Given the description of an element on the screen output the (x, y) to click on. 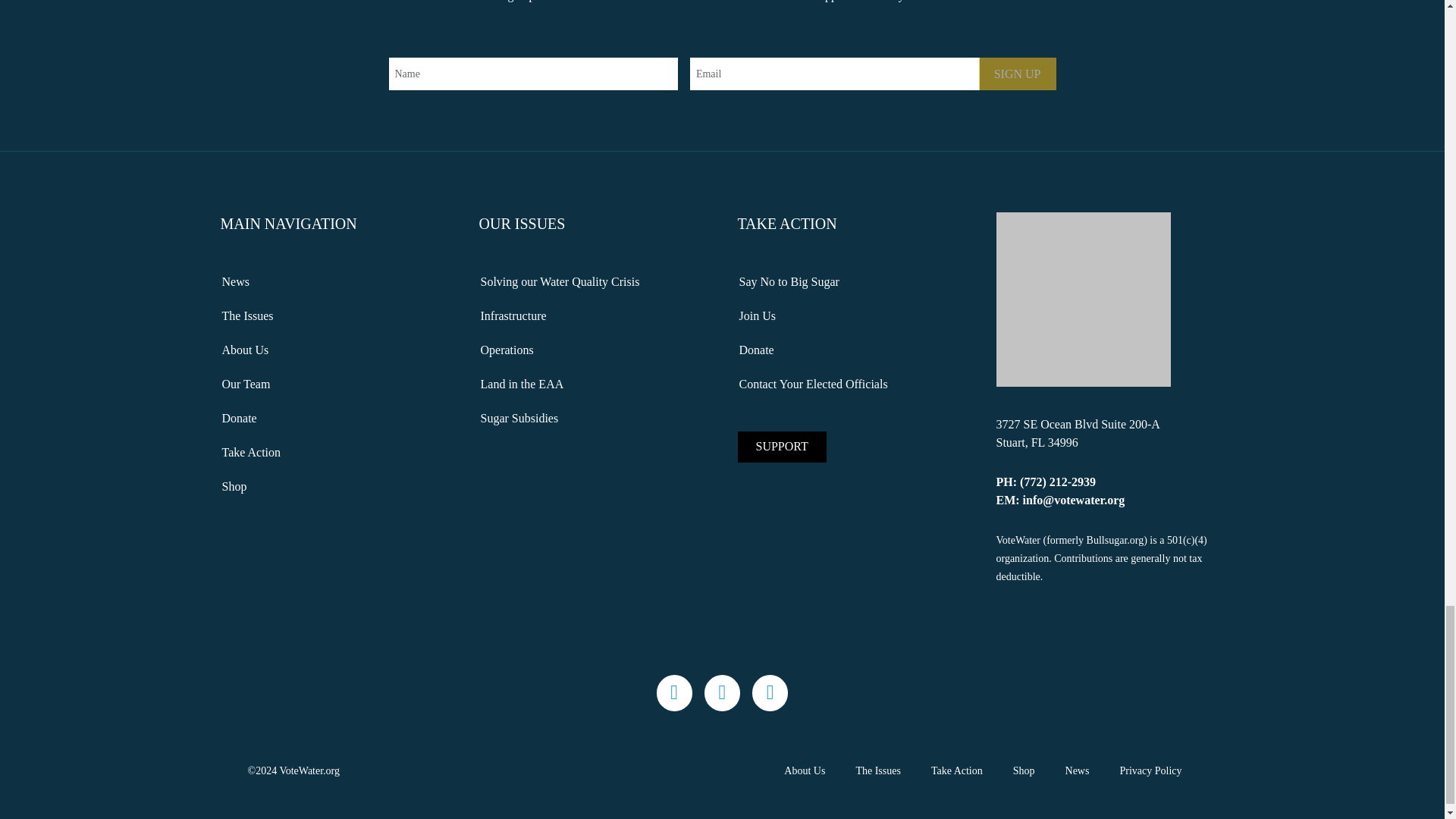
News (334, 281)
Infrastructure (593, 315)
Join Us (851, 315)
Shop (334, 486)
Say No to Big Sugar (851, 281)
Sugar Subsidies (593, 418)
Contact Your Elected Officials (851, 384)
Land in the EAA (593, 384)
Solving our Water Quality Crisis (593, 281)
Sign up (1017, 73)
